Given the description of an element on the screen output the (x, y) to click on. 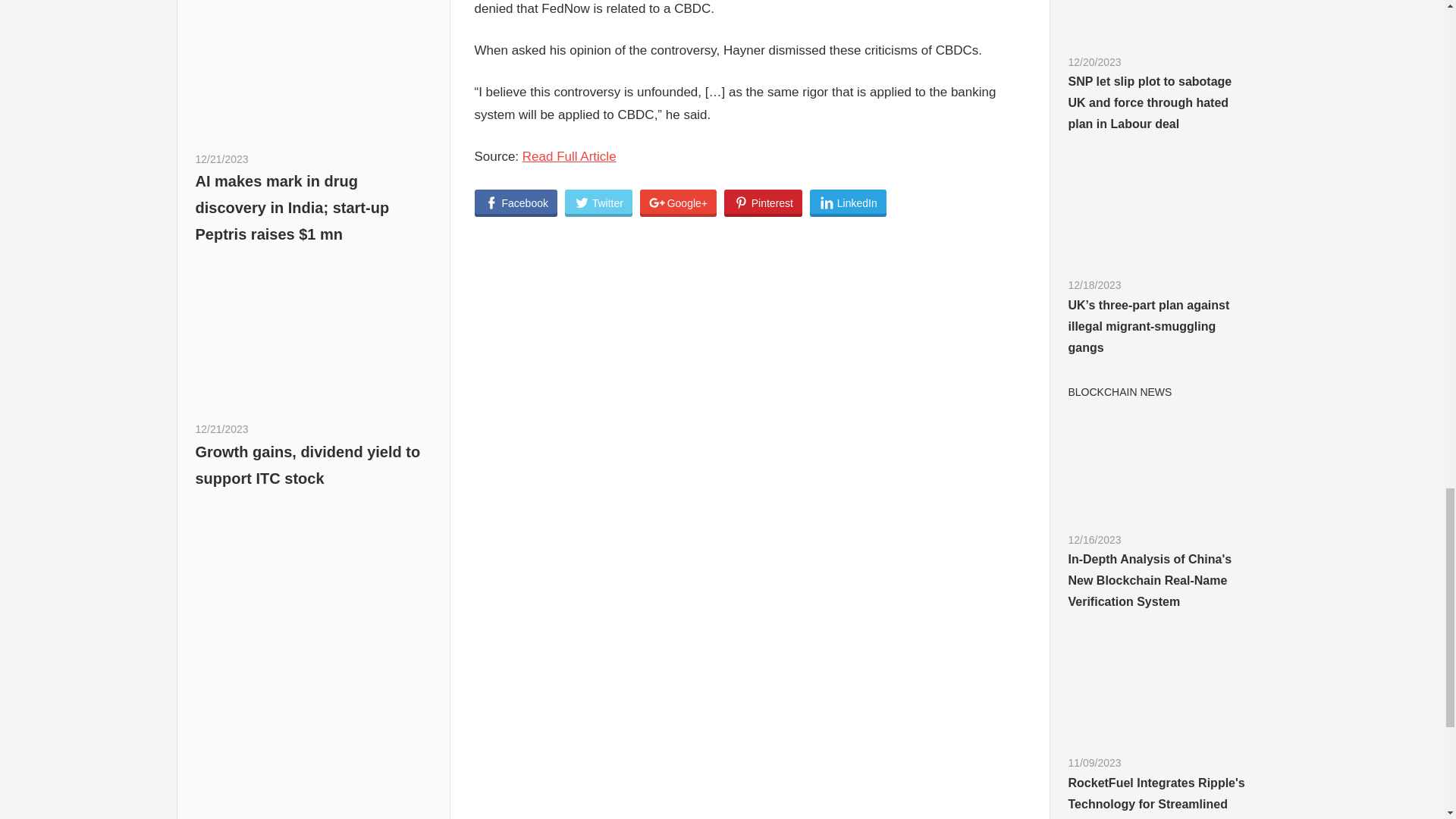
6:39 am (221, 428)
Pinterest (762, 203)
Read Full Article (568, 156)
Twitter (597, 203)
8:39 am (221, 159)
LinkedIn (847, 203)
Facebook (515, 203)
